Given the description of an element on the screen output the (x, y) to click on. 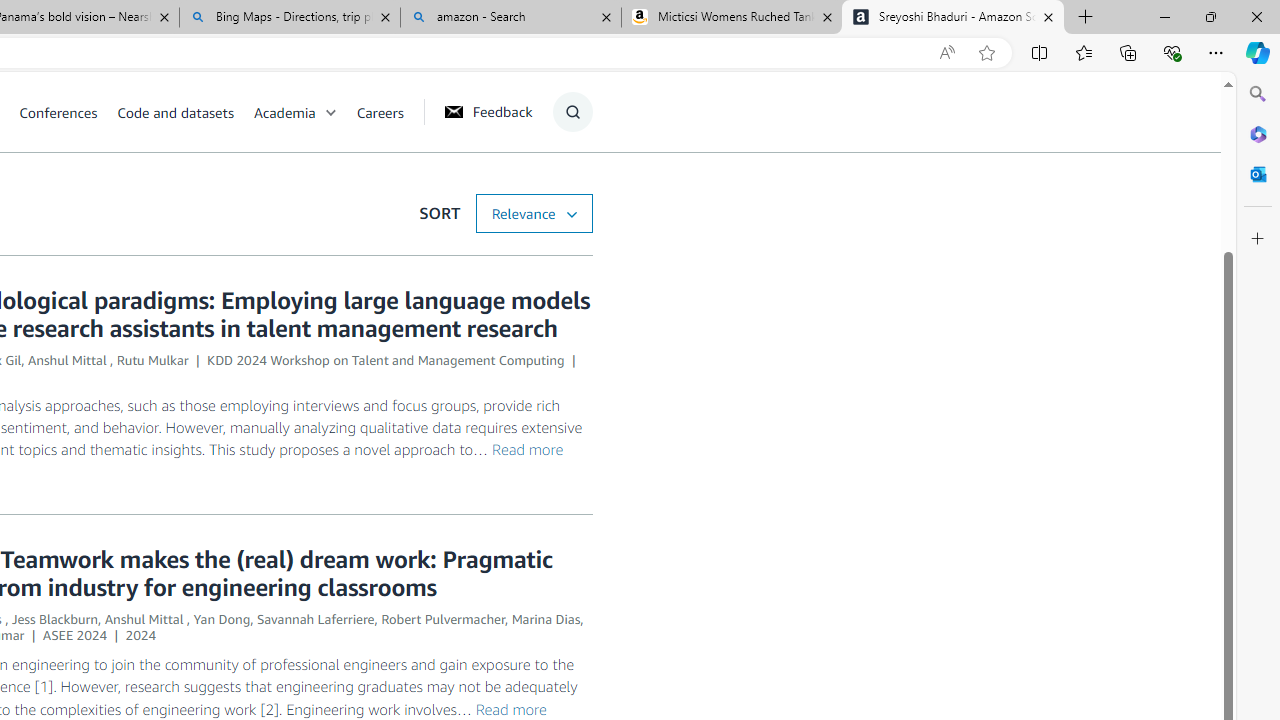
Sreyoshi Bhaduri - Amazon Science (953, 17)
Jess Blackburn (54, 619)
Code and datasets (184, 111)
Code and datasets (175, 111)
Robert Pulvermacher (443, 619)
Submit Search (565, 191)
Yan Dong (221, 619)
Careers (379, 111)
